Given the description of an element on the screen output the (x, y) to click on. 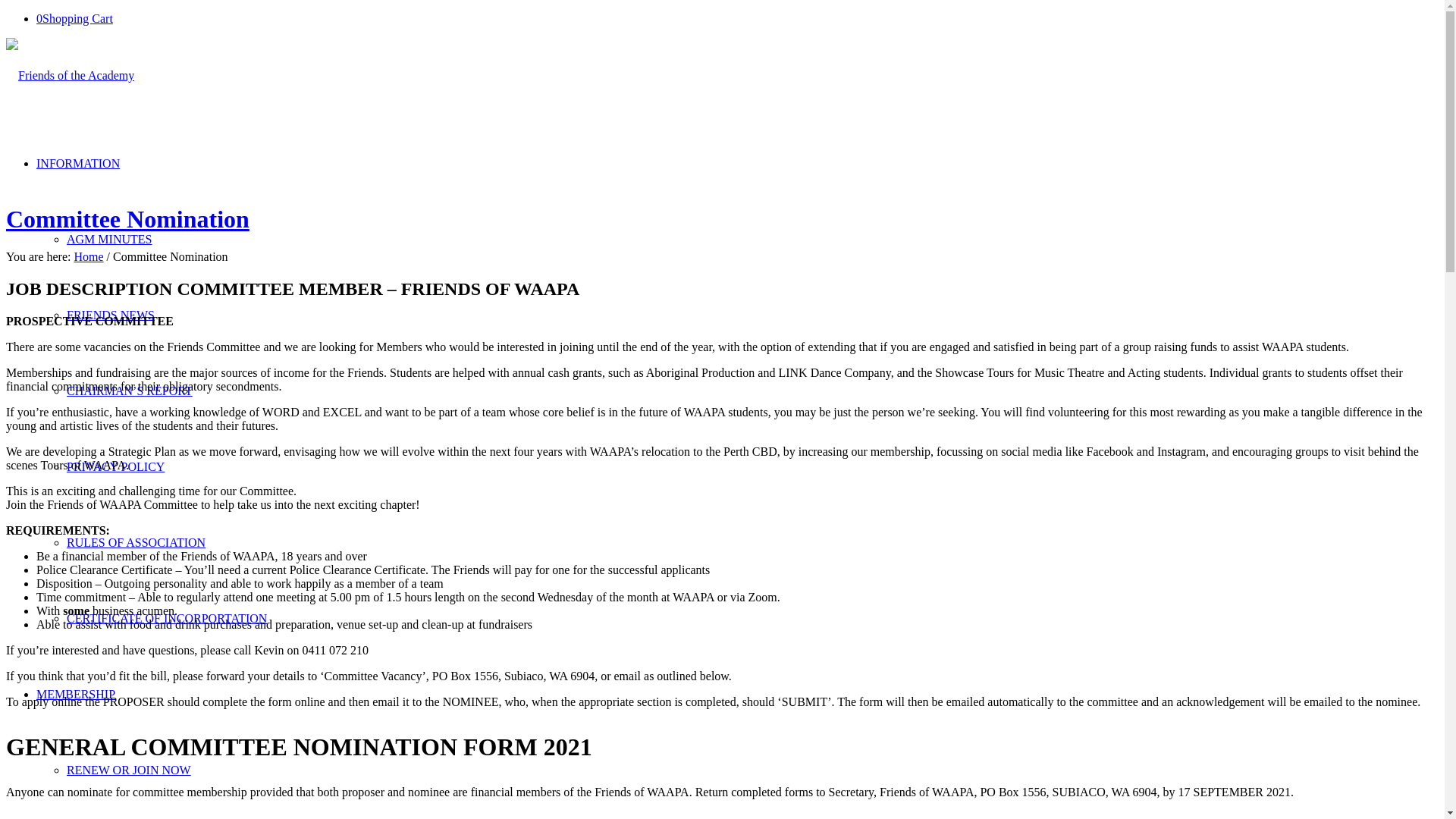
MEMBERSHIP Element type: text (75, 693)
INFORMATION Element type: text (77, 162)
CERTIFICATE OF INCORPORTATION Element type: text (166, 617)
RULES OF ASSOCIATION Element type: text (135, 542)
Home Element type: text (88, 256)
FRIENDS NEWS Element type: text (110, 314)
Committee Nomination Element type: text (127, 218)
0Shopping Cart Element type: text (74, 18)
RENEW OR JOIN NOW Element type: text (128, 769)
AGM MINUTES Element type: text (108, 238)
PRIVACY POLICY Element type: text (115, 466)
